Given the description of an element on the screen output the (x, y) to click on. 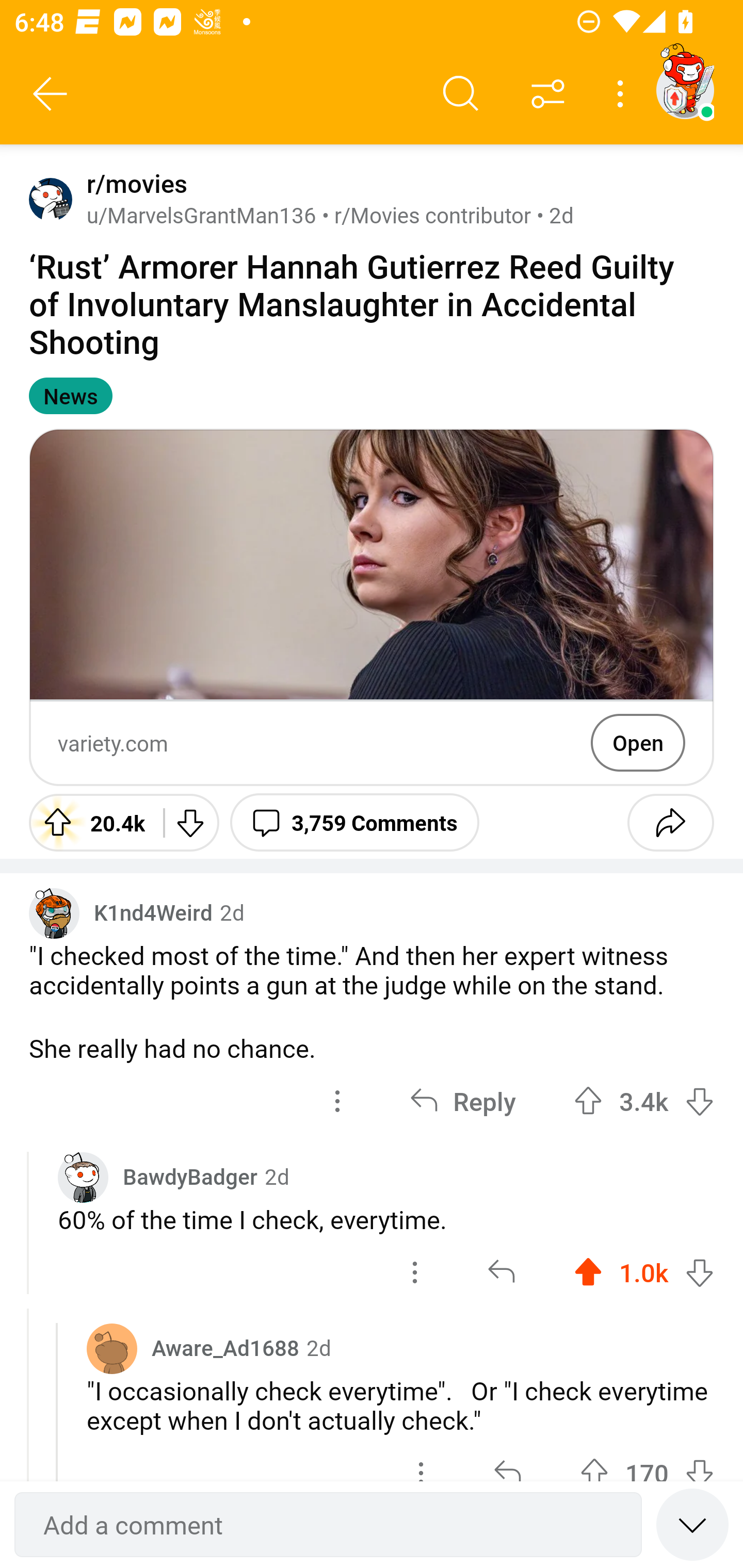
Back (50, 93)
TestAppium002 account (685, 90)
Search comments (460, 93)
Sort comments (547, 93)
More options (623, 93)
r/movies (133, 183)
Avatar (50, 199)
News (70, 395)
Preview Image variety.com Open (371, 606)
Open (637, 742)
Upvote 20.4k (88, 822)
Downvote (189, 822)
3,759 Comments (354, 822)
Share (670, 822)
Custom avatar (53, 912)
options (337, 1100)
Reply (462, 1100)
Upvote 3.4k 3422 votes Downvote (643, 1100)
Custom avatar (82, 1177)
60% of the time I check, everytime. (385, 1218)
options (414, 1272)
Upvote 1.0k 1008 votes Downvote (643, 1272)
Avatar (111, 1348)
Speed read (692, 1524)
Add a comment (327, 1524)
